Given the description of an element on the screen output the (x, y) to click on. 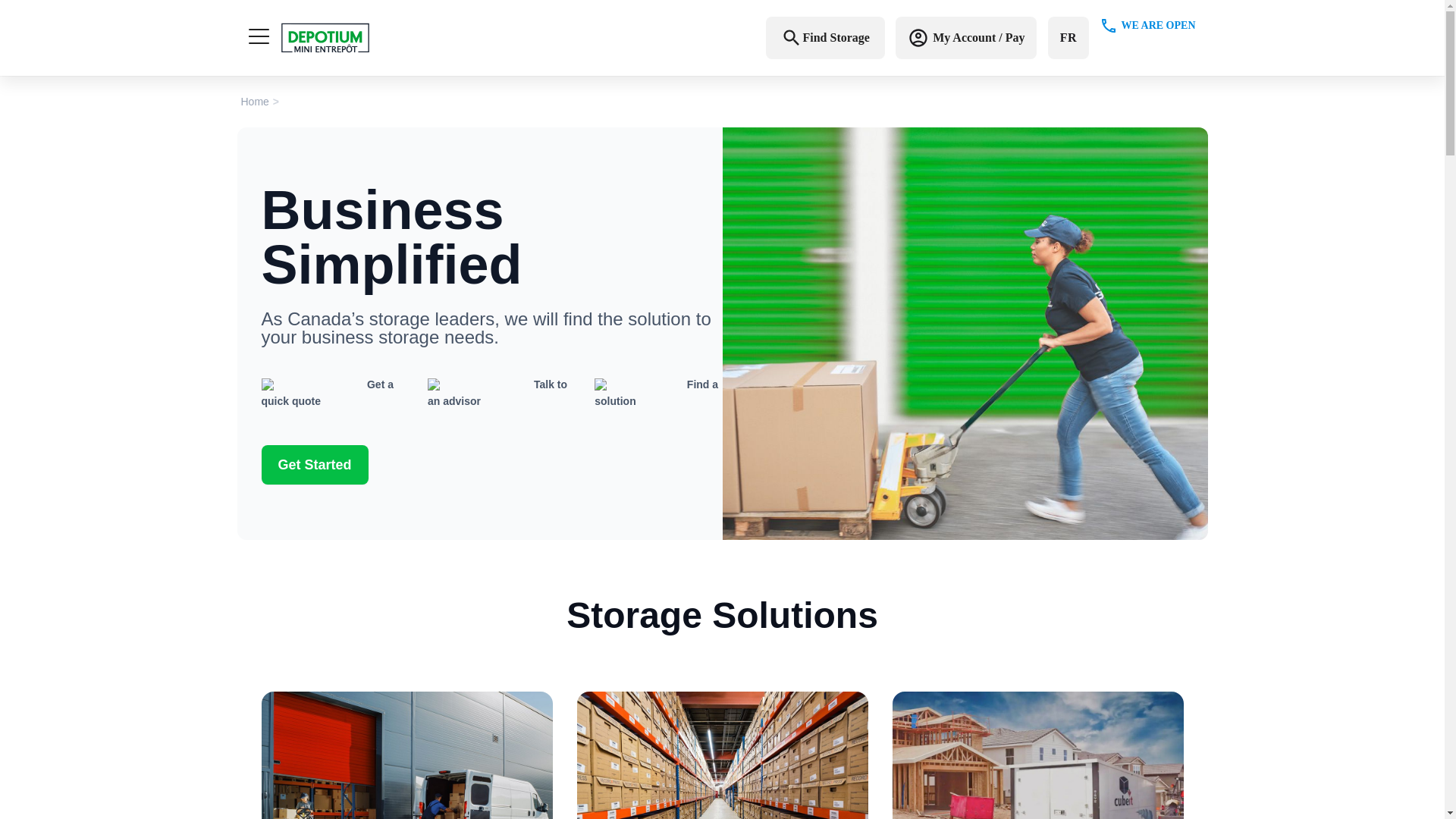
FR (1068, 37)
undefined to undefined ET (1147, 37)
Get Started (314, 464)
Get Started (314, 464)
Home (255, 101)
